Given the description of an element on the screen output the (x, y) to click on. 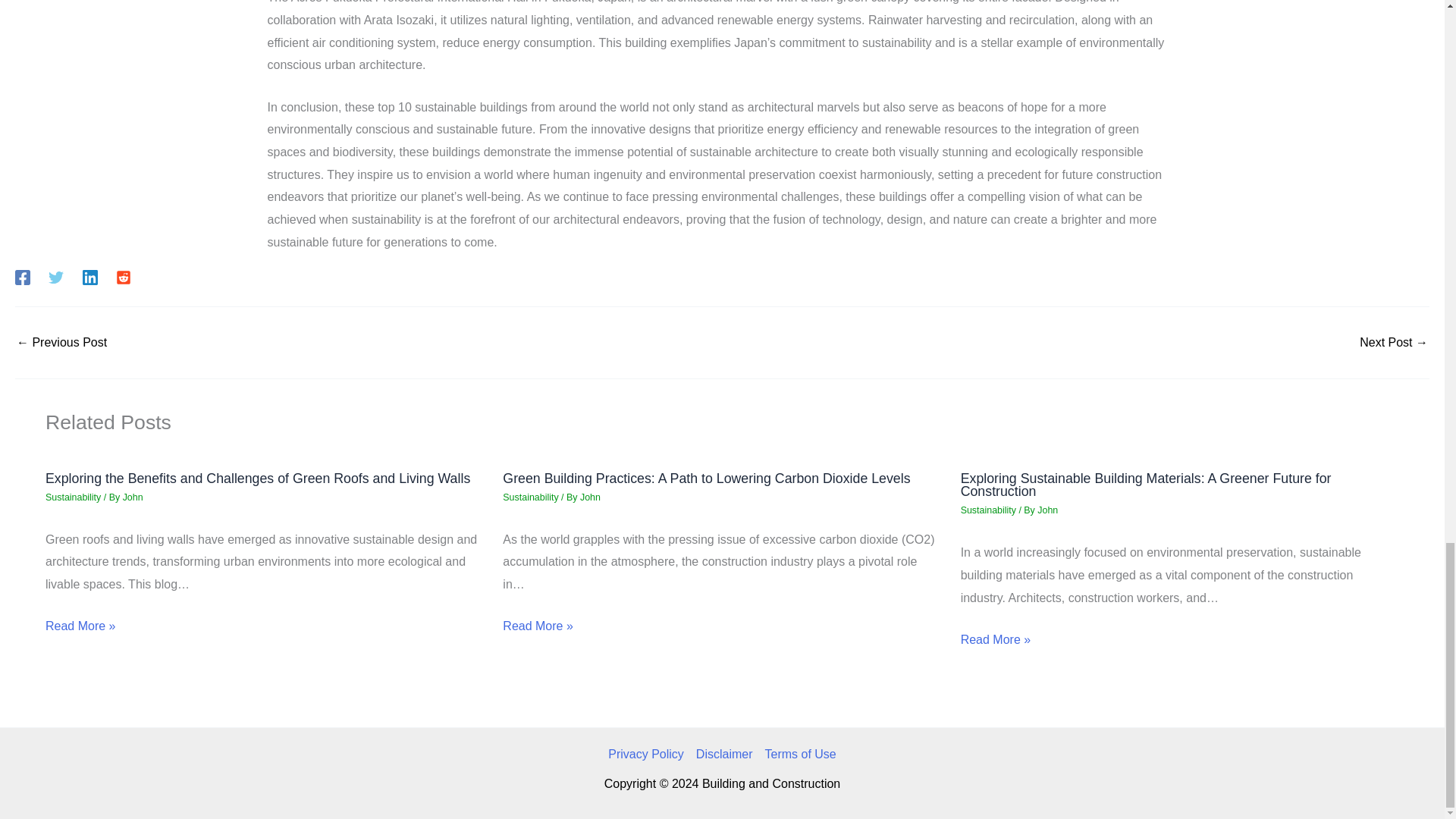
View all posts by John (132, 497)
View all posts by John (589, 497)
View all posts by John (1047, 510)
